Given the description of an element on the screen output the (x, y) to click on. 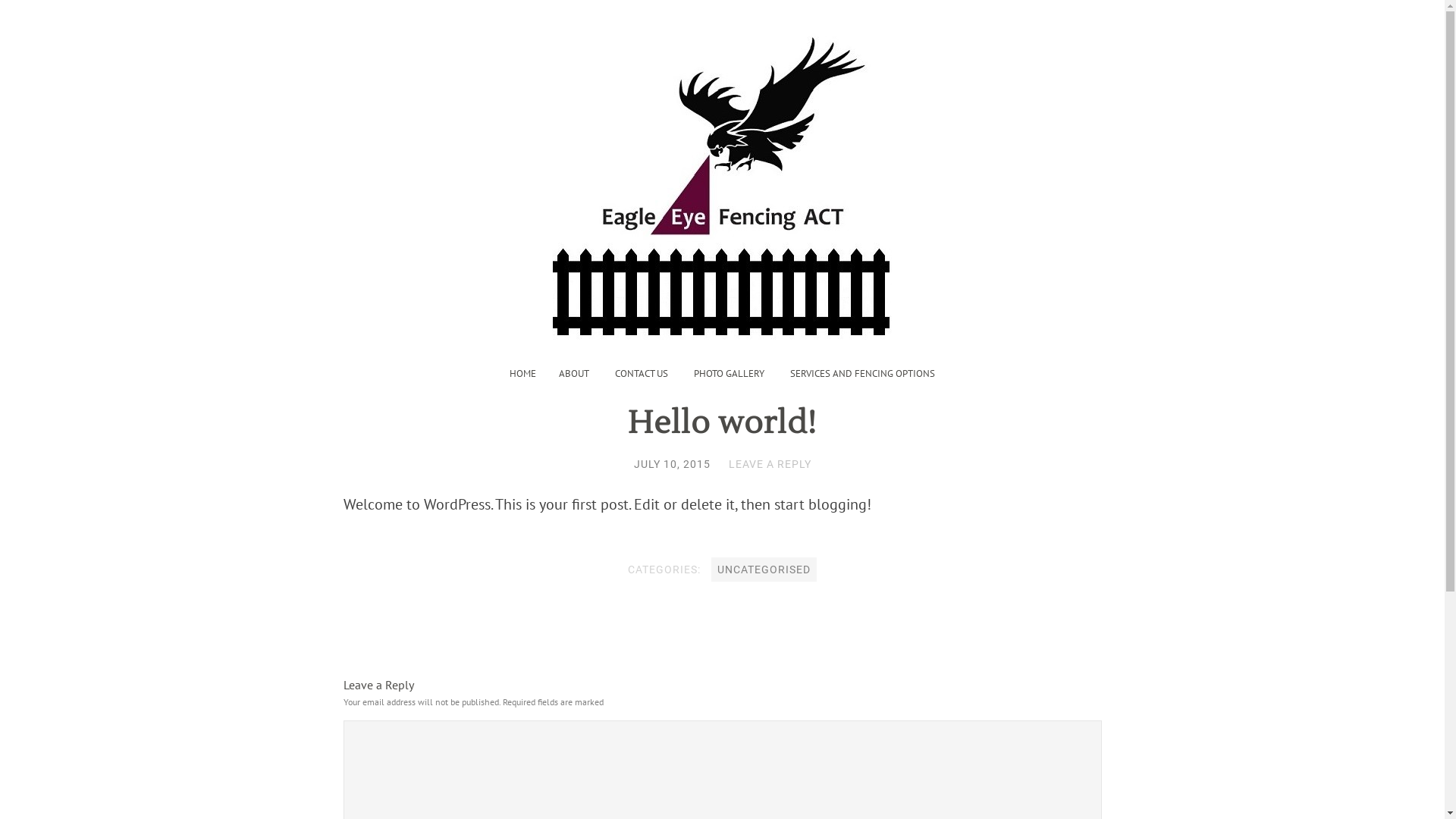
ABOUT Element type: text (573, 372)
Eagle Eye Fencing ACT Element type: hover (722, 171)
HOME Element type: text (522, 372)
UNCATEGORISED Element type: text (763, 569)
LEAVE A REPLY Element type: text (769, 464)
SERVICES AND FENCING OPTIONS Element type: text (862, 372)
PHOTO GALLERY Element type: text (728, 372)
CONTACT US Element type: text (641, 372)
Search Element type: text (30, 12)
